Given the description of an element on the screen output the (x, y) to click on. 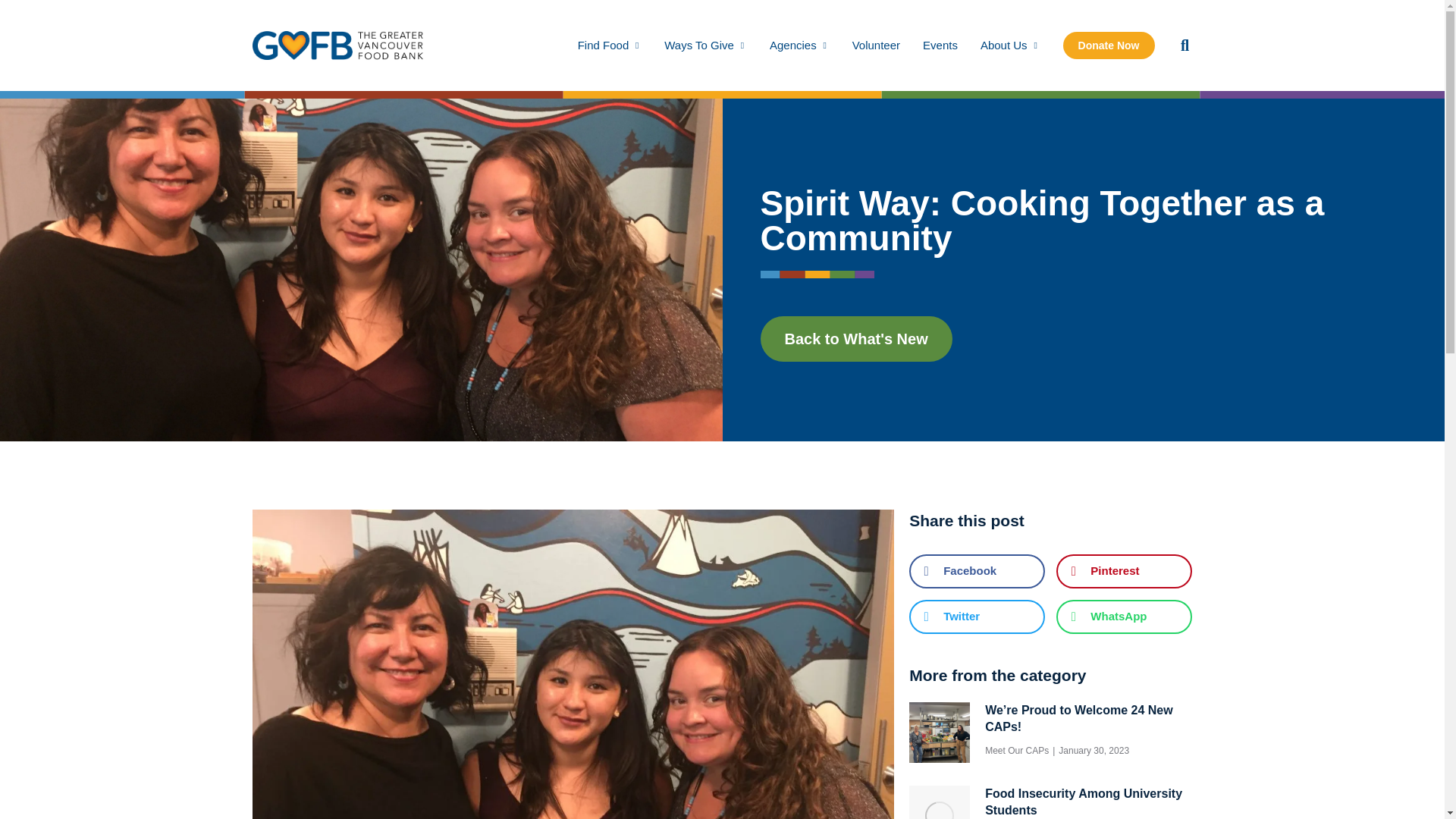
Events (940, 45)
Agencies (799, 45)
About Us (1010, 45)
Donate Now (1108, 44)
Find Food (610, 45)
Ways To Give (704, 45)
Food Insecurity Among University Students (1088, 802)
Volunteer (875, 45)
